Given the description of an element on the screen output the (x, y) to click on. 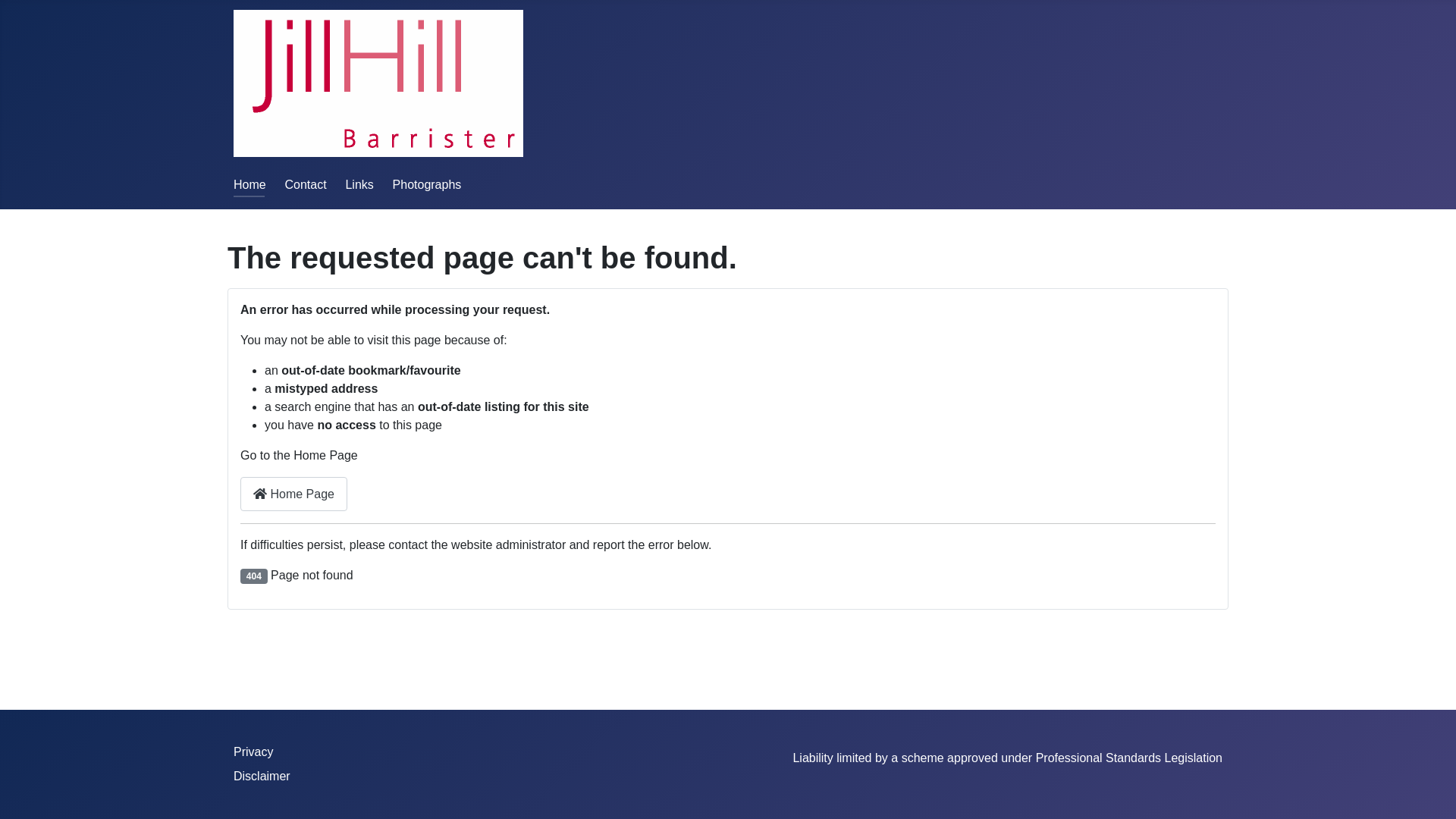
Photographs Element type: text (426, 184)
Privacy Element type: text (253, 751)
Home Page Element type: text (293, 493)
Links Element type: text (359, 184)
Disclaimer Element type: text (261, 775)
Contact Element type: text (305, 184)
Home Element type: text (249, 184)
